Given the description of an element on the screen output the (x, y) to click on. 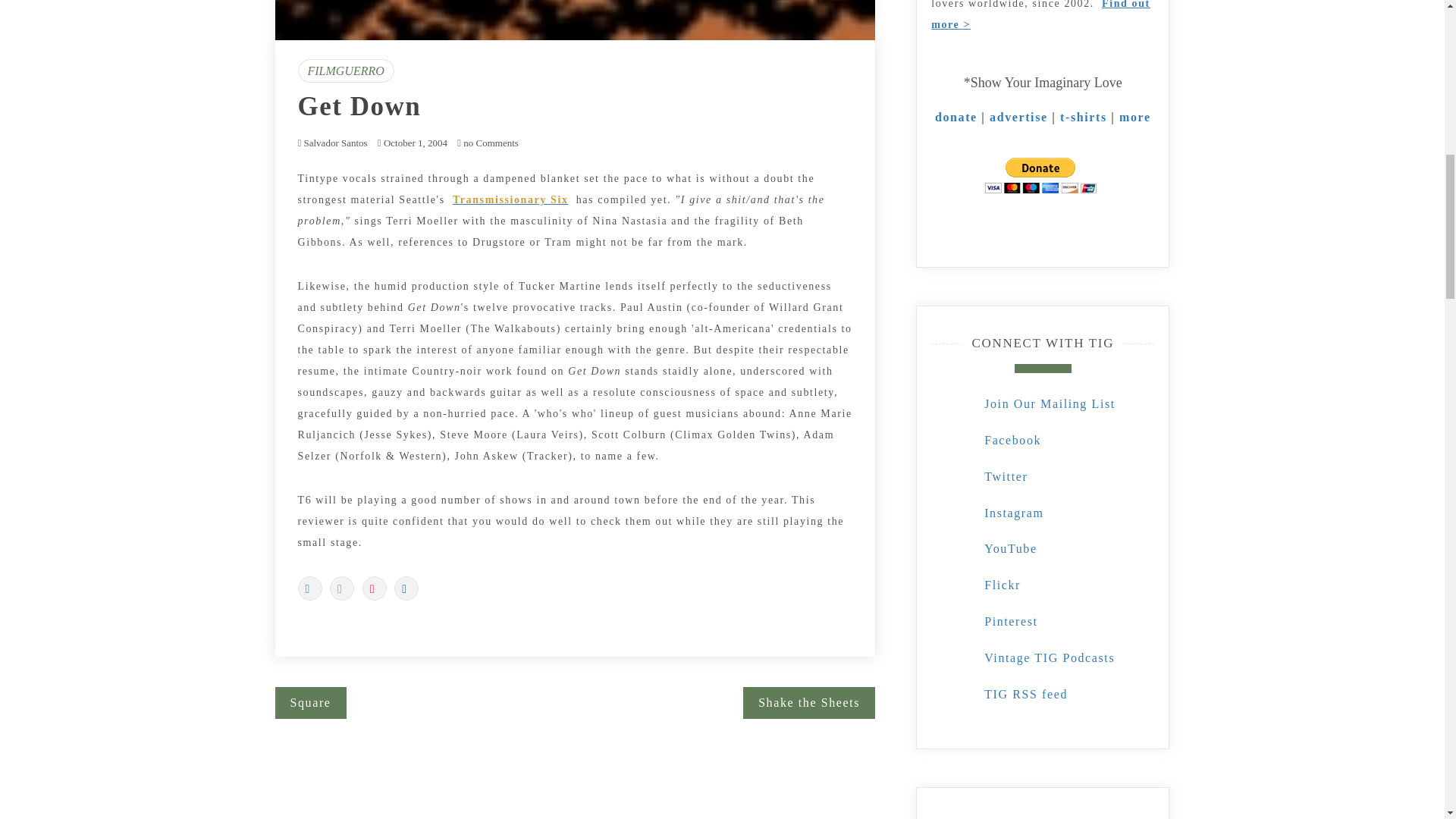
Posts by Salvador Santos (334, 142)
